Given the description of an element on the screen output the (x, y) to click on. 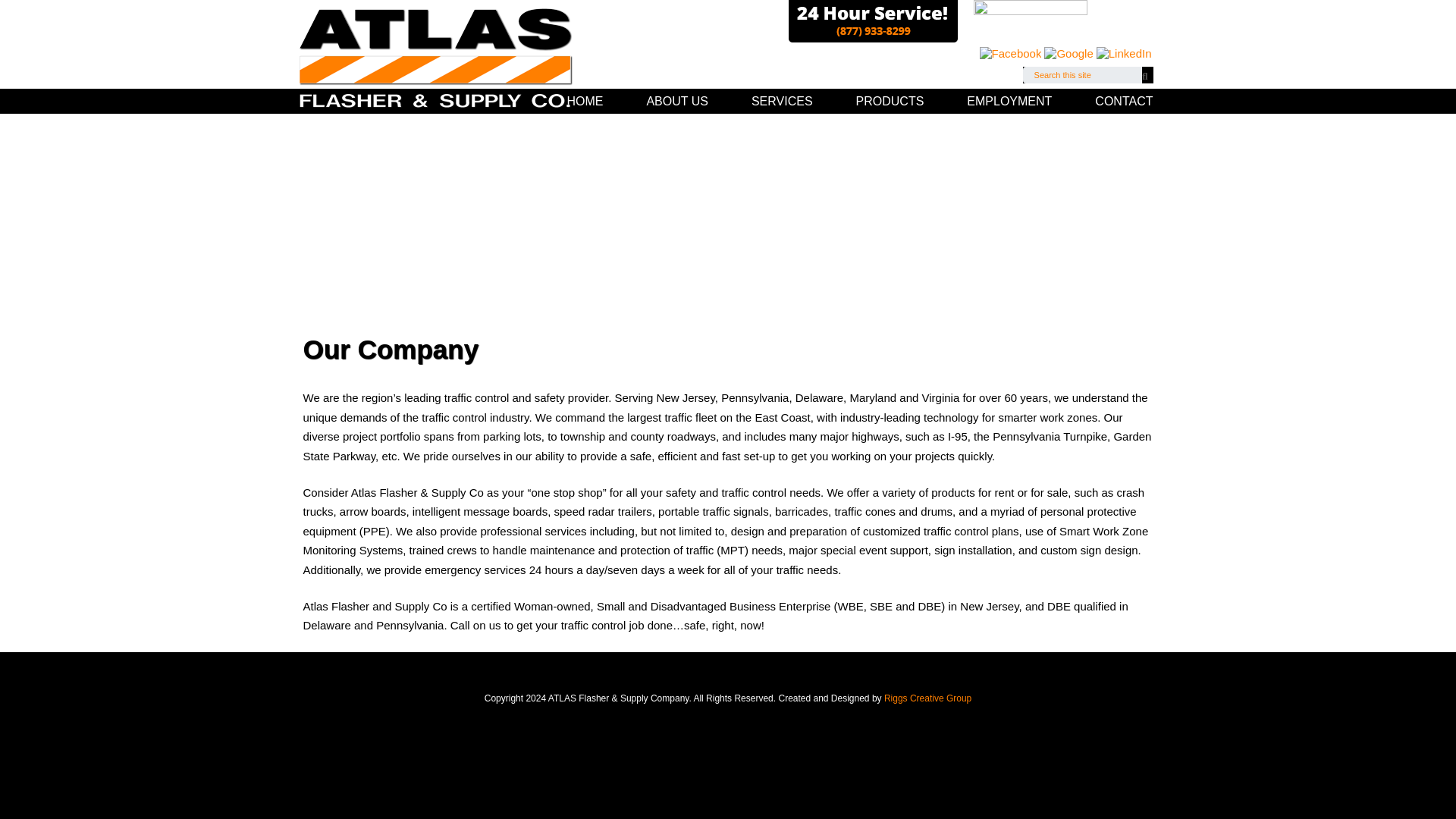
PRODUCTS (882, 100)
HOME (576, 100)
Riggs Creative Group (927, 697)
ABOUT US (668, 100)
CONTACT (1109, 100)
SERVICES (774, 100)
Facebook (1010, 51)
Facebook (1010, 52)
LinkedIn (1123, 51)
Google (1068, 52)
